Given the description of an element on the screen output the (x, y) to click on. 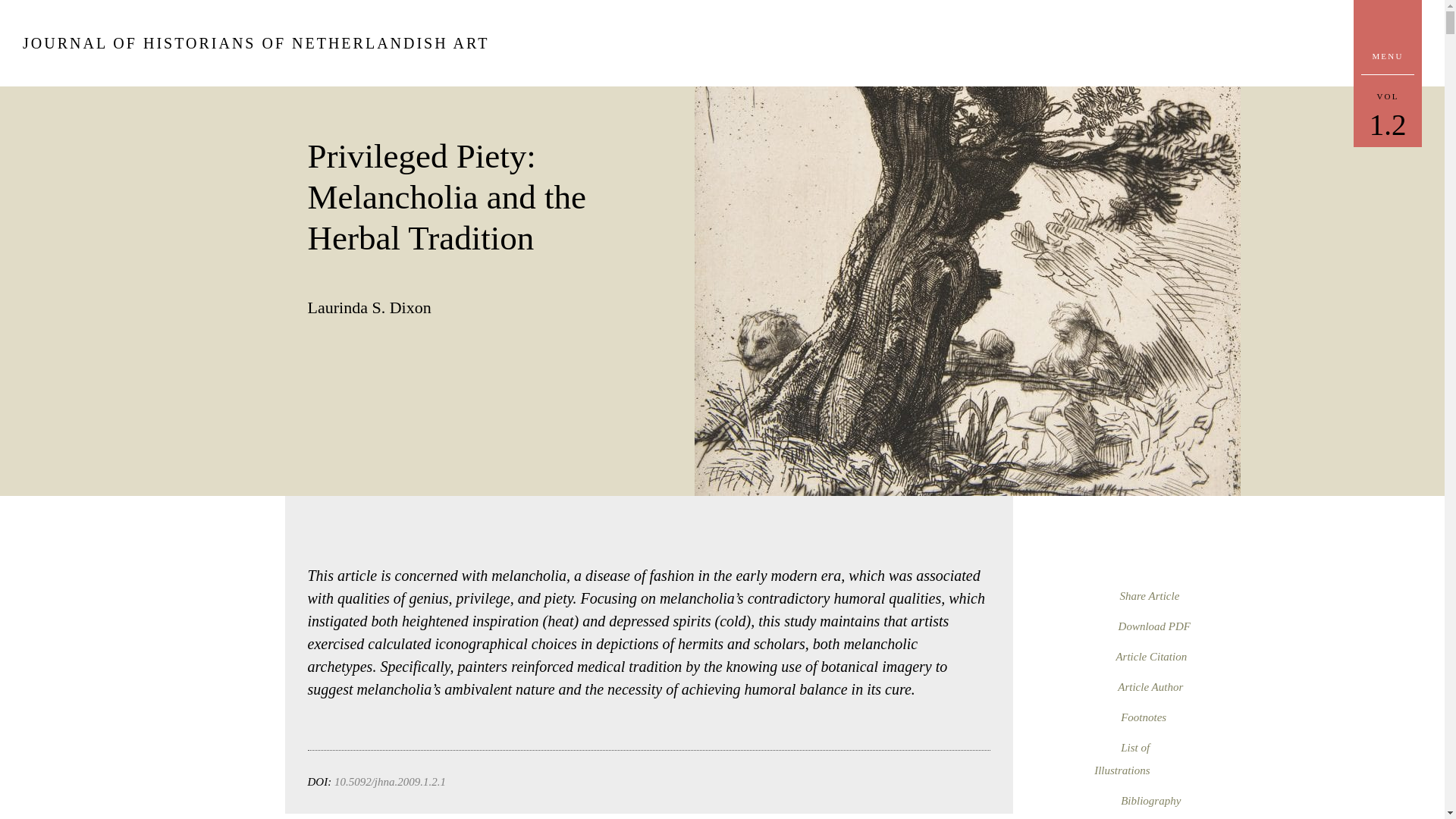
List of Illustrations (1122, 757)
JOURNAL OF HISTORIANS OF NETHERLANDISH ART (256, 43)
Share Article (1136, 594)
Bibliography (1137, 799)
Footnotes (1387, 115)
Article Author (1130, 715)
Download PDF (1138, 685)
Article Citation (1142, 624)
